Given the description of an element on the screen output the (x, y) to click on. 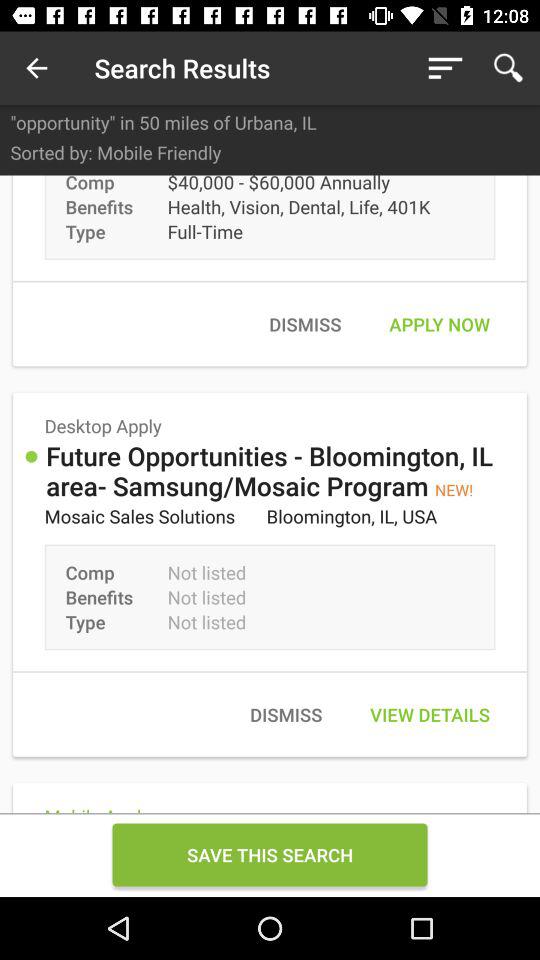
tap the view details (429, 714)
